Given the description of an element on the screen output the (x, y) to click on. 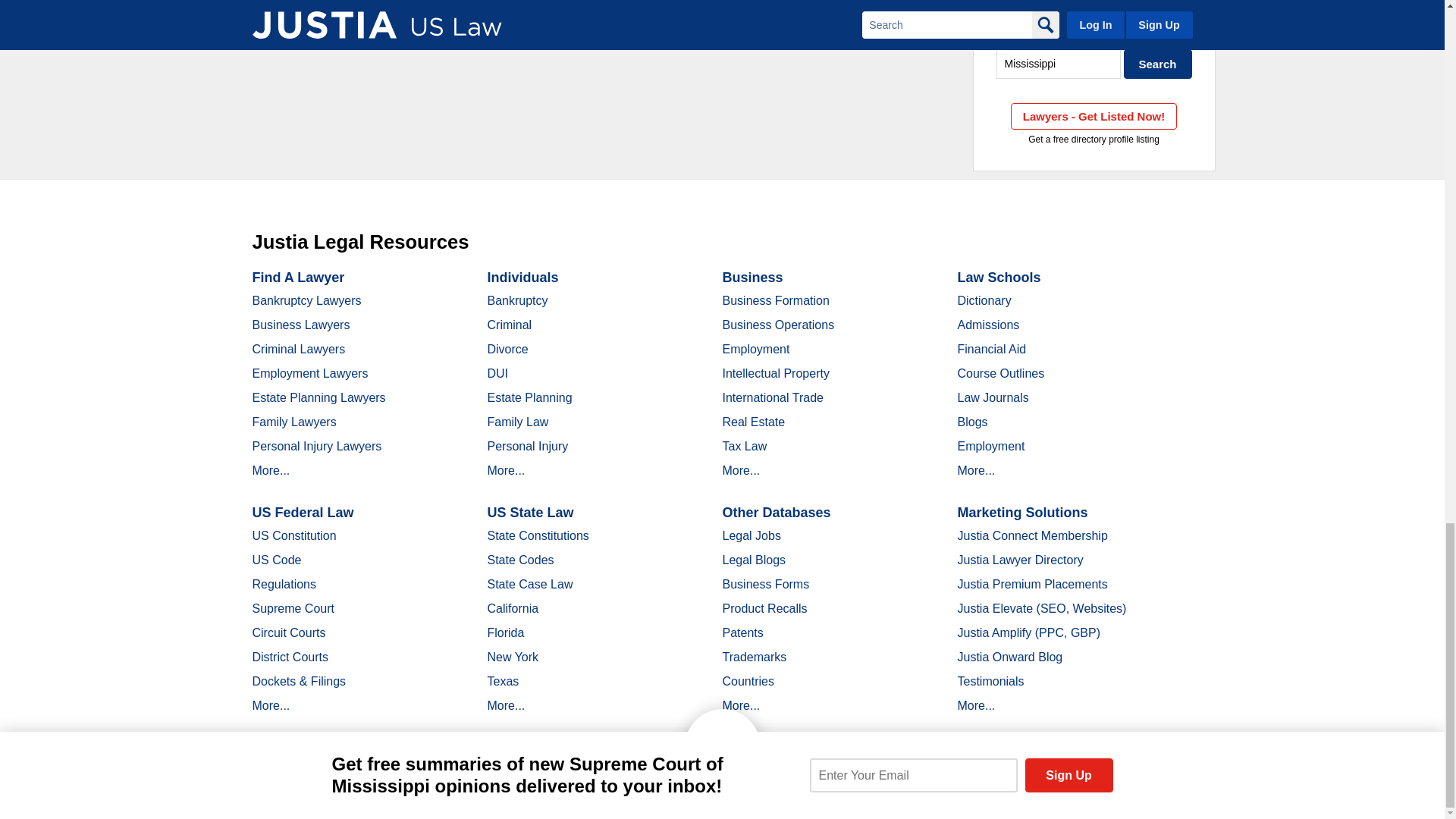
Twitter (372, 791)
Mississippi (1058, 63)
Business Law (1093, 30)
LinkedIn (398, 791)
City, State (1058, 63)
Facebook (345, 791)
Search (1158, 63)
Legal Issue or Lawyer Name (1093, 30)
YouTube (424, 791)
Search (1158, 63)
